Given the description of an element on the screen output the (x, y) to click on. 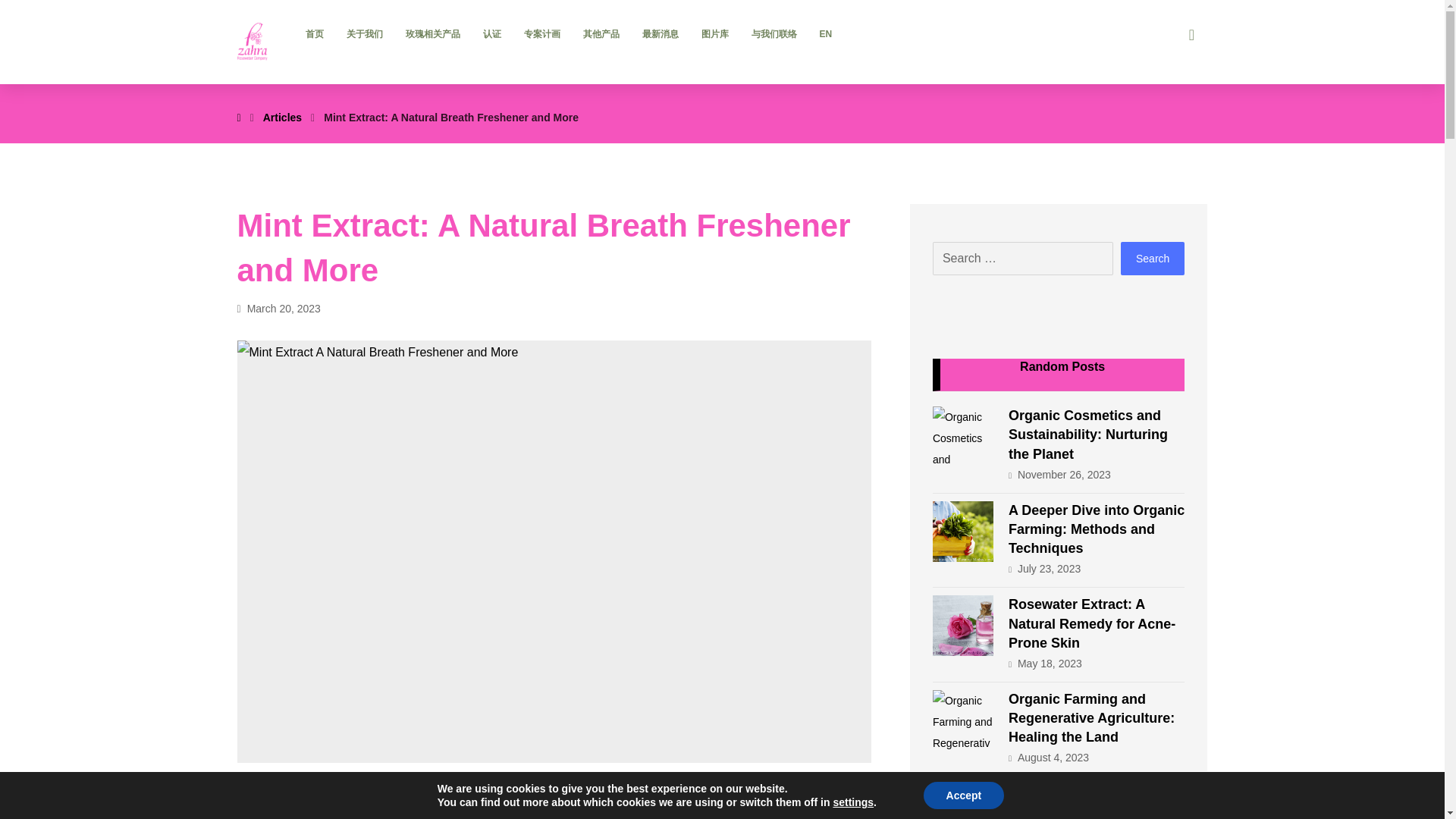
March 20, 2023 (277, 308)
Organic Cosmetics and Sustainability: Nurturing the Planet (962, 436)
Search (1153, 258)
A Deeper Dive into Organic Farming: Methods and Techniques (1097, 529)
Organic Cosmetics and Sustainability: Nurturing the Planet (1088, 434)
Rosewater Extract: A Natural Remedy for Acne-Prone Skin (962, 625)
Rosewater Extract: A Natural Remedy for Acne-Prone Skin (1091, 623)
A Deeper Dive into Organic Farming: Methods and Techniques (962, 531)
